Given the description of an element on the screen output the (x, y) to click on. 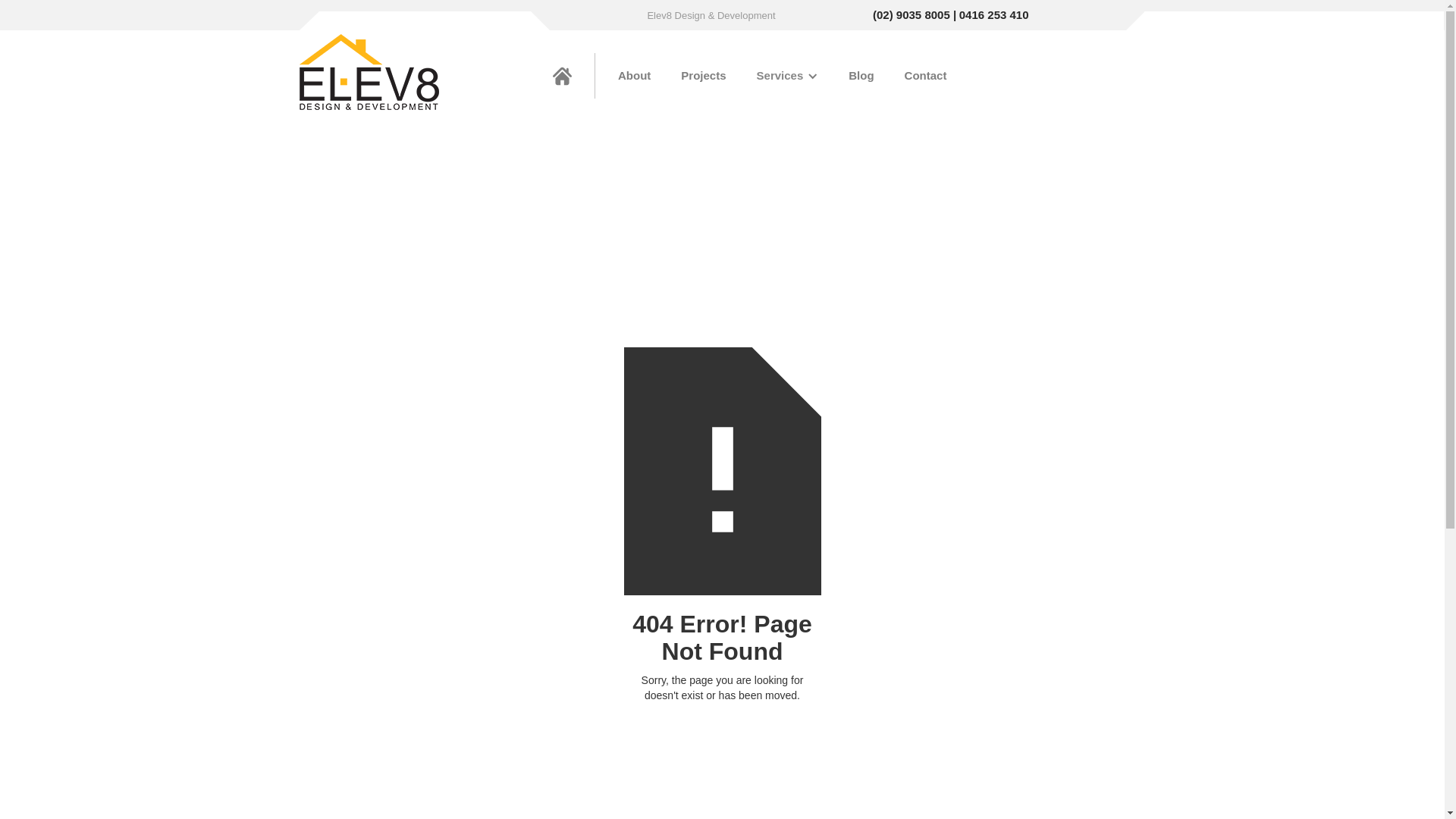
Contact Element type: text (925, 75)
Projects Element type: text (702, 75)
Services Element type: text (779, 75)
0416 253 410 Element type: text (994, 14)
(02) 9035 8005 | Element type: text (914, 14)
Blog Element type: text (860, 75)
About Element type: text (633, 75)
